Given the description of an element on the screen output the (x, y) to click on. 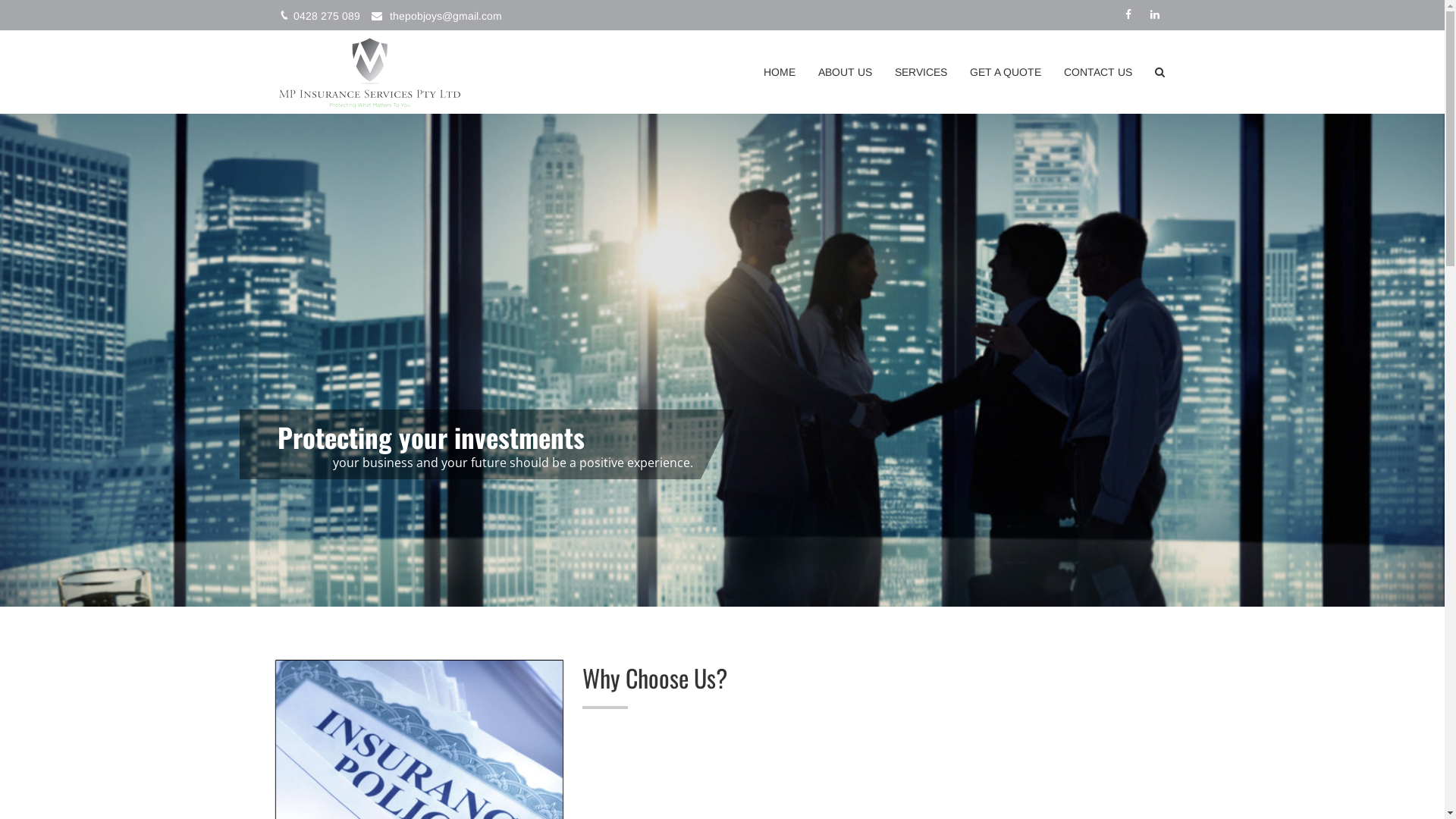
SERVICES Element type: text (919, 71)
MP Insurance -  Element type: hover (368, 71)
GET A QUOTE Element type: text (1005, 71)
HOME Element type: text (779, 71)
thepobjoys@gmail.com Element type: text (445, 15)
ABOUT US Element type: text (844, 71)
CONTACT US Element type: text (1097, 71)
0428 275 089 Element type: text (325, 15)
